Given the description of an element on the screen output the (x, y) to click on. 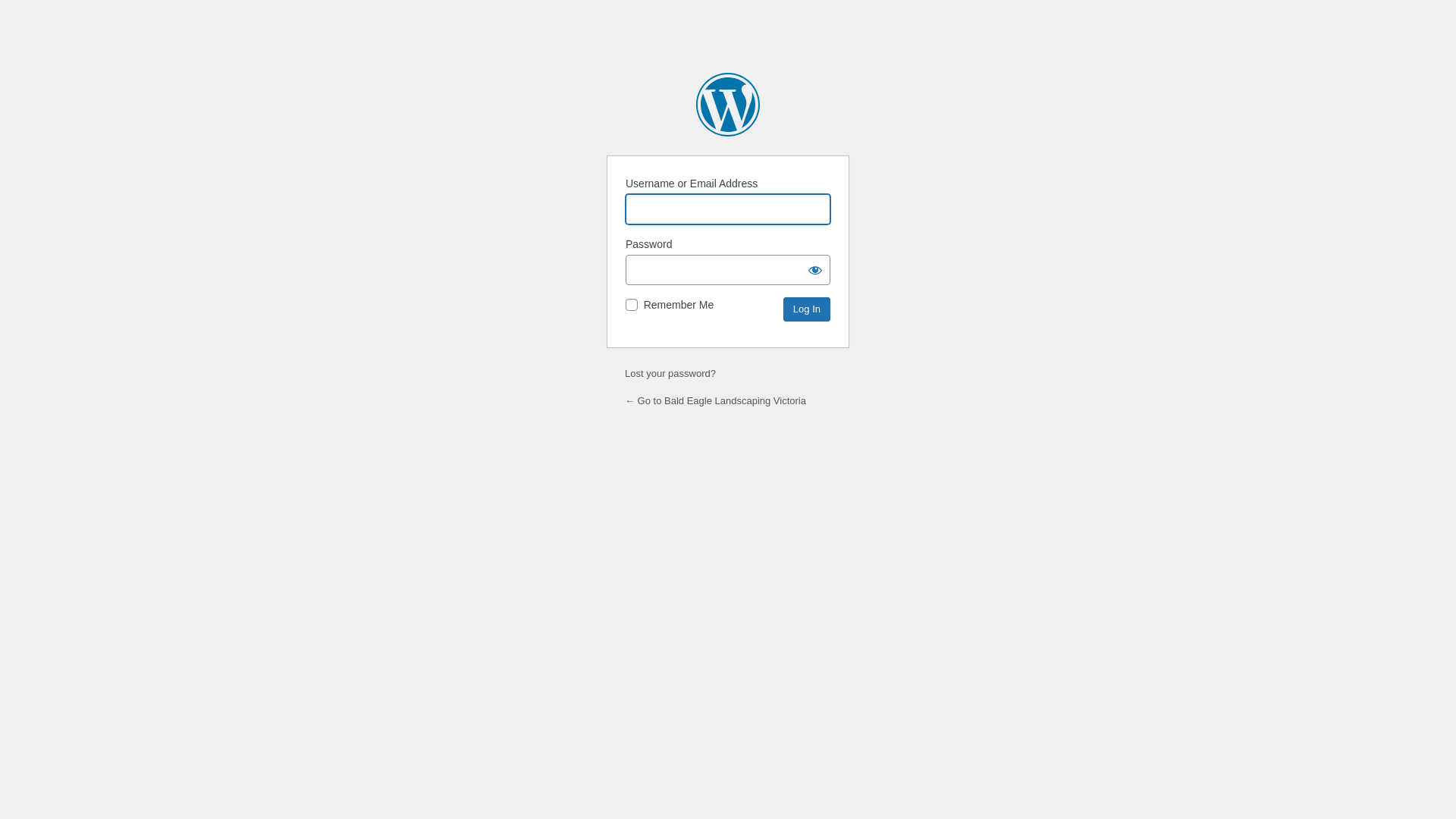
Powered by WordPress Element type: text (727, 104)
Lost your password? Element type: text (669, 373)
Log In Element type: text (806, 309)
